Given the description of an element on the screen output the (x, y) to click on. 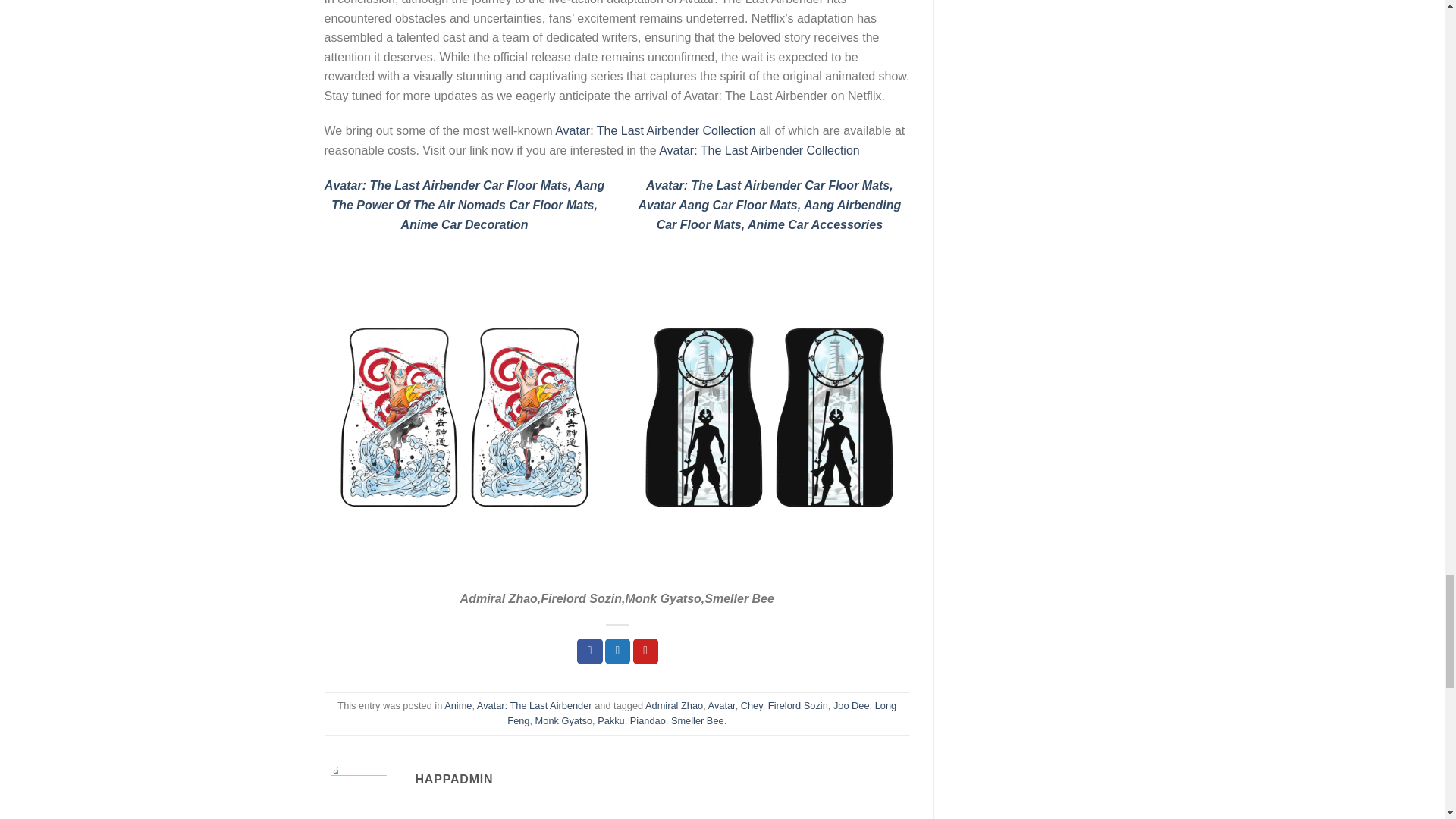
Avatar: The Last Airbender Collection (654, 130)
Monk Gyatso (563, 720)
Avatar: The Last Airbender Collection (759, 150)
Avatar: The Last Airbender (534, 705)
Admiral Zhao (674, 705)
Pakku (610, 720)
Chey (751, 705)
Firelord Sozin (798, 705)
Avatar (721, 705)
Smeller Bee (697, 720)
Piandao (647, 720)
Long Feng (701, 713)
Joo Dee (850, 705)
Anime (457, 705)
